Given the description of an element on the screen output the (x, y) to click on. 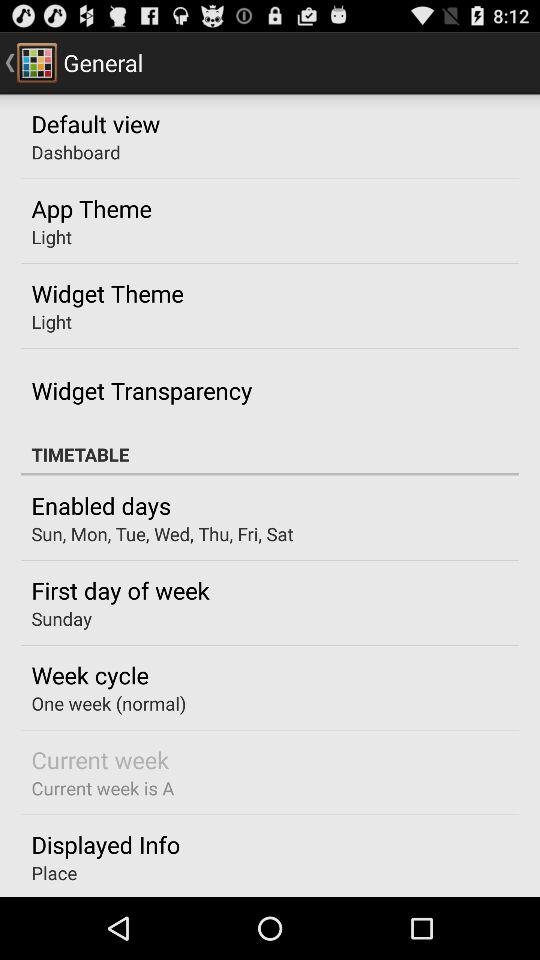
open the app below the widget transparency (270, 454)
